Given the description of an element on the screen output the (x, y) to click on. 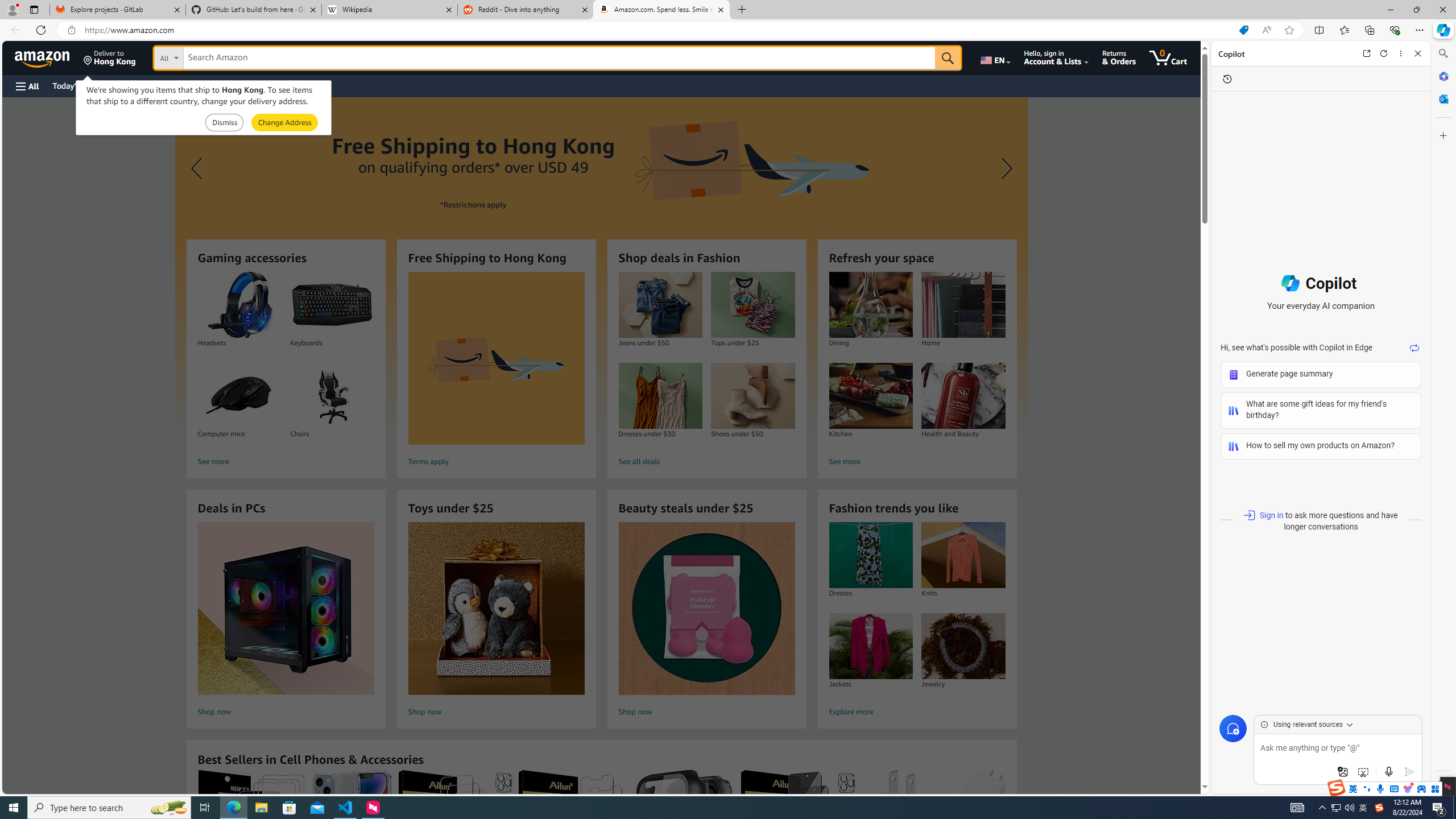
Free Shipping to Hong Kong Learn more (600, 267)
Dresses under $30 (659, 395)
Dining (870, 304)
Computer mice (239, 395)
Search in (210, 58)
Chairs (331, 395)
